Given the description of an element on the screen output the (x, y) to click on. 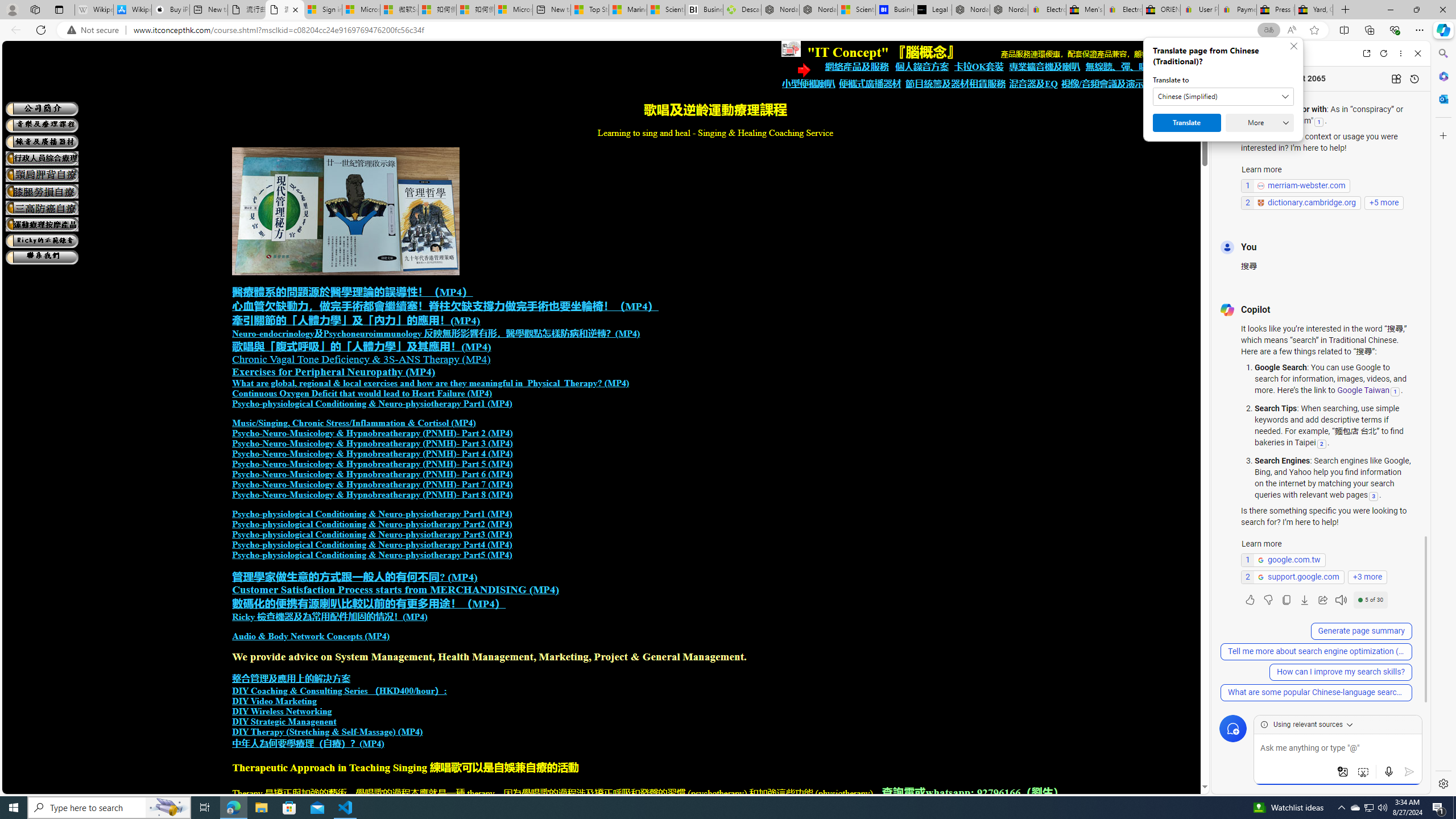
Not secure (95, 29)
Compose (1280, 52)
Audio & Body Network Concepts (MP4) (310, 636)
